Given the description of an element on the screen output the (x, y) to click on. 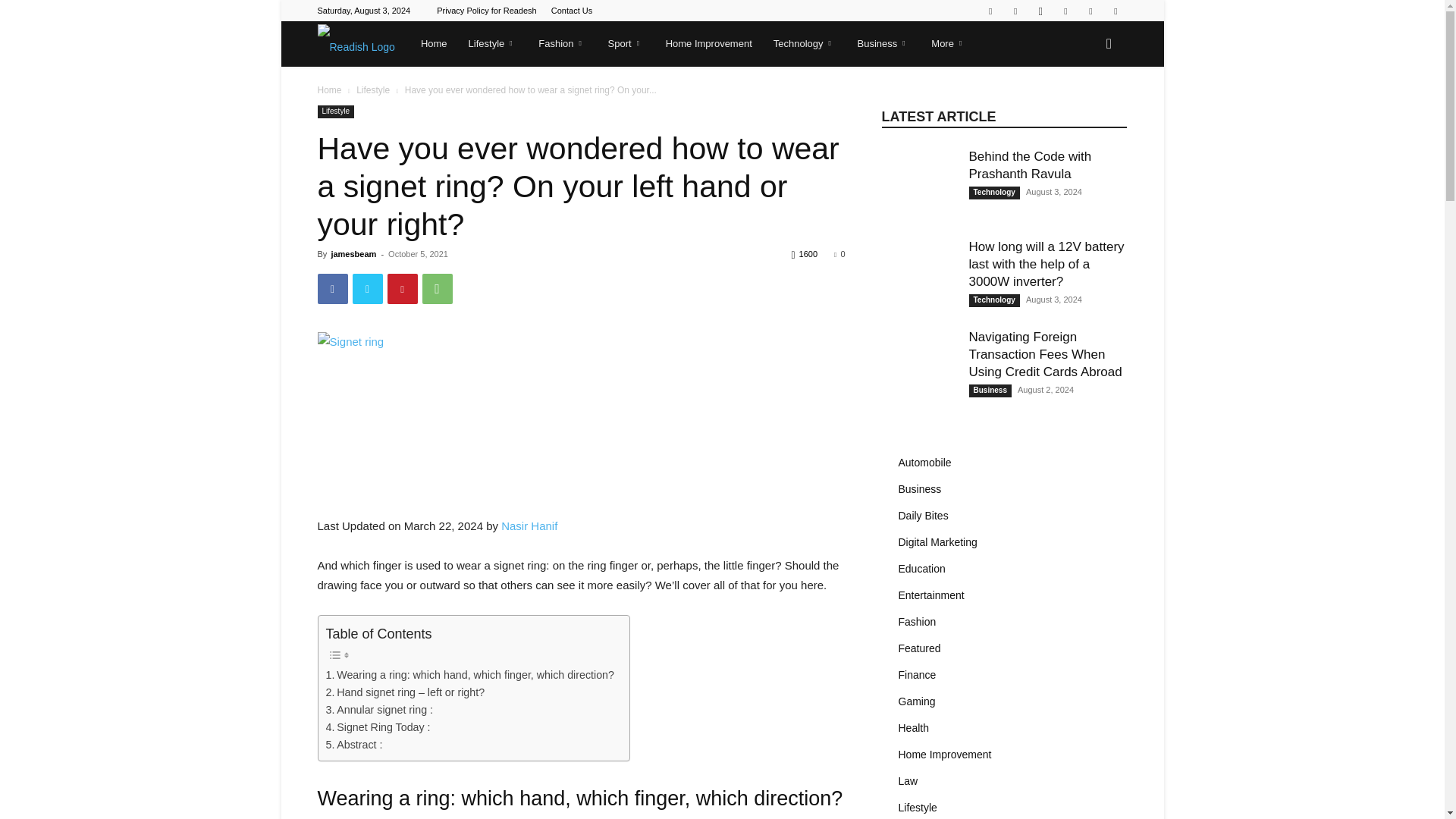
Facebook (1015, 10)
Vimeo (1090, 10)
Privacy Policy for Readesh (485, 10)
Contact Us (571, 10)
Behance (989, 10)
Readish Logo (355, 44)
Twitter (1065, 10)
Instagram (1040, 10)
VKontakte (1114, 10)
